Given the description of an element on the screen output the (x, y) to click on. 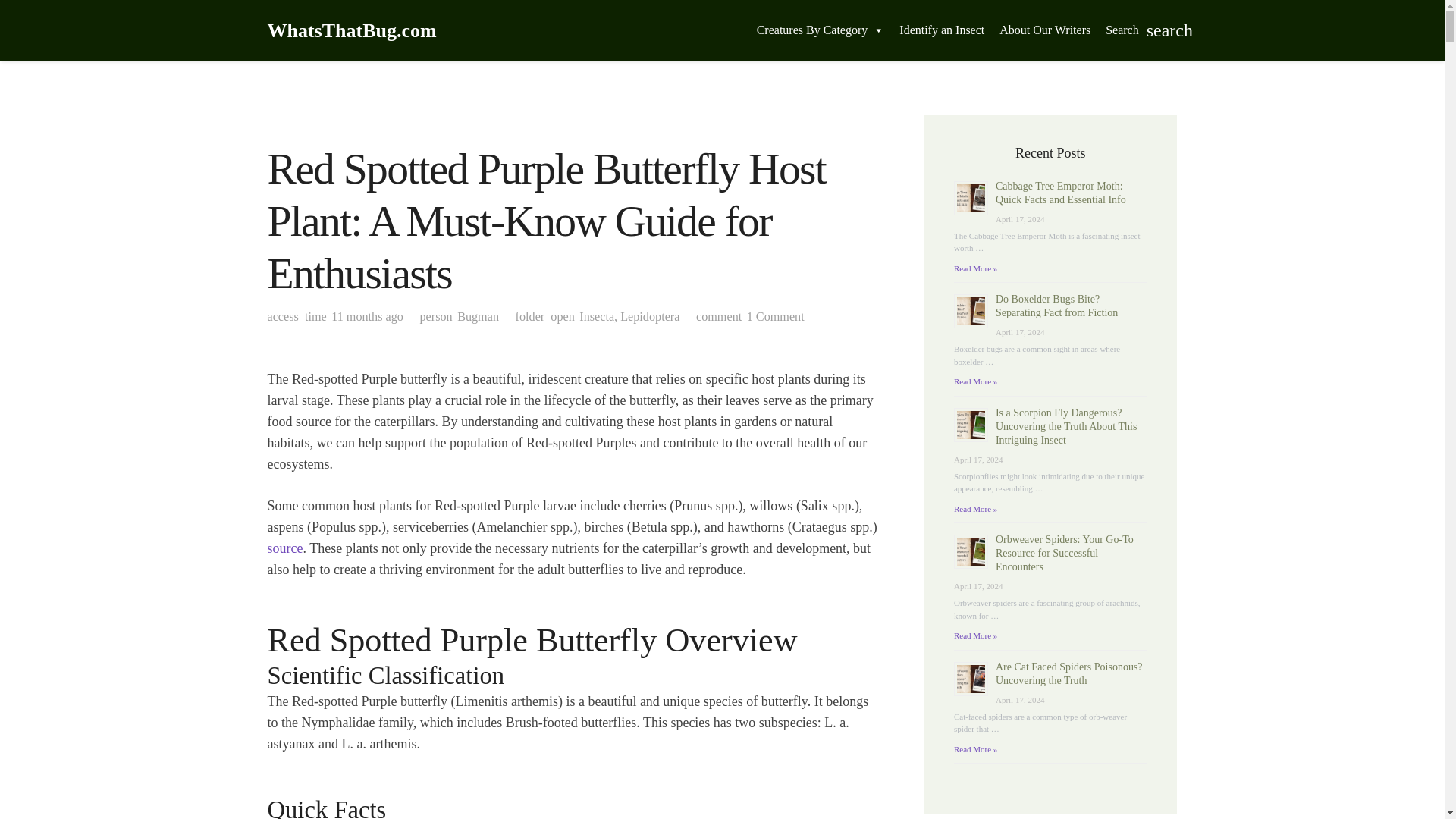
Creatures By Category (820, 30)
WhatsThatBug.com (350, 30)
1 Comment (775, 316)
